Given the description of an element on the screen output the (x, y) to click on. 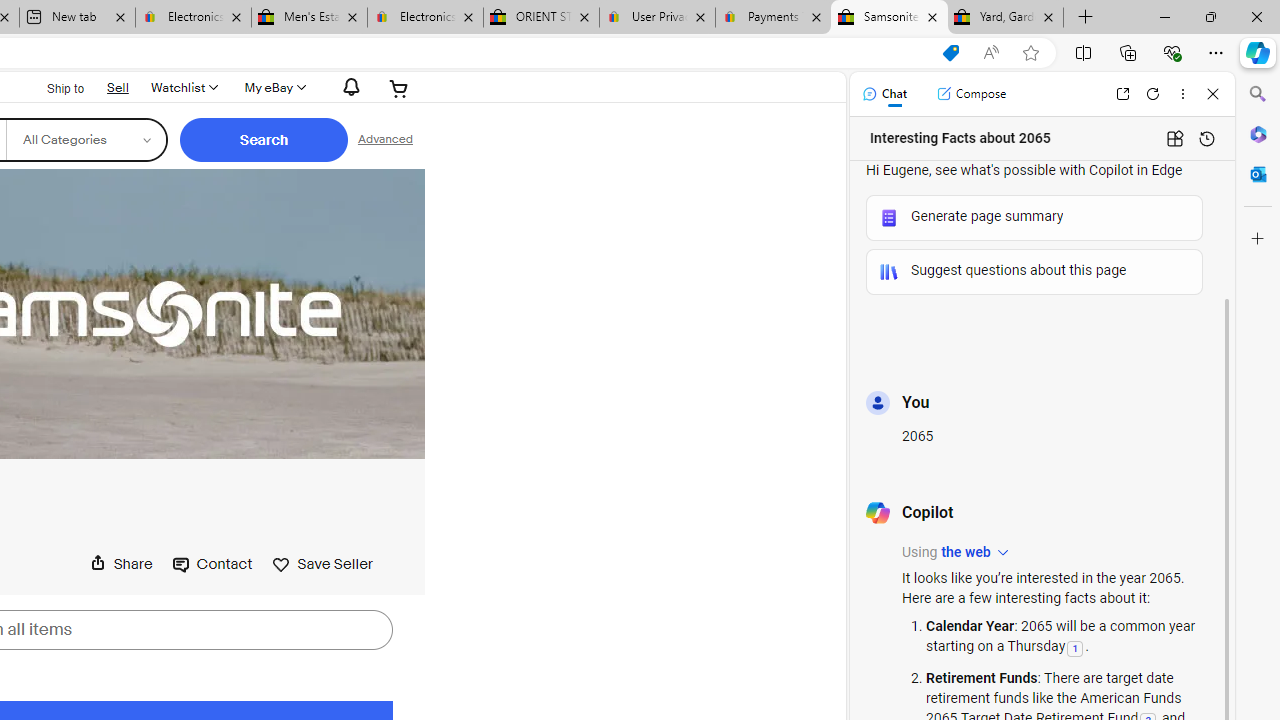
This site has coupons! Shopping in Microsoft Edge (950, 53)
Advanced Search (384, 139)
My eBay (273, 88)
Contact (212, 563)
My eBayExpand My eBay (273, 88)
